Given the description of an element on the screen output the (x, y) to click on. 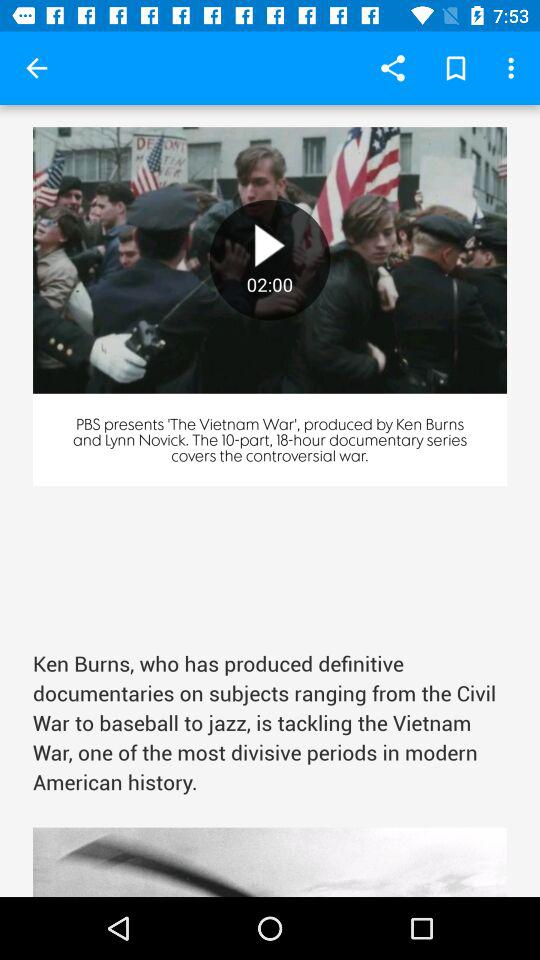
click the video (269, 259)
